Given the description of an element on the screen output the (x, y) to click on. 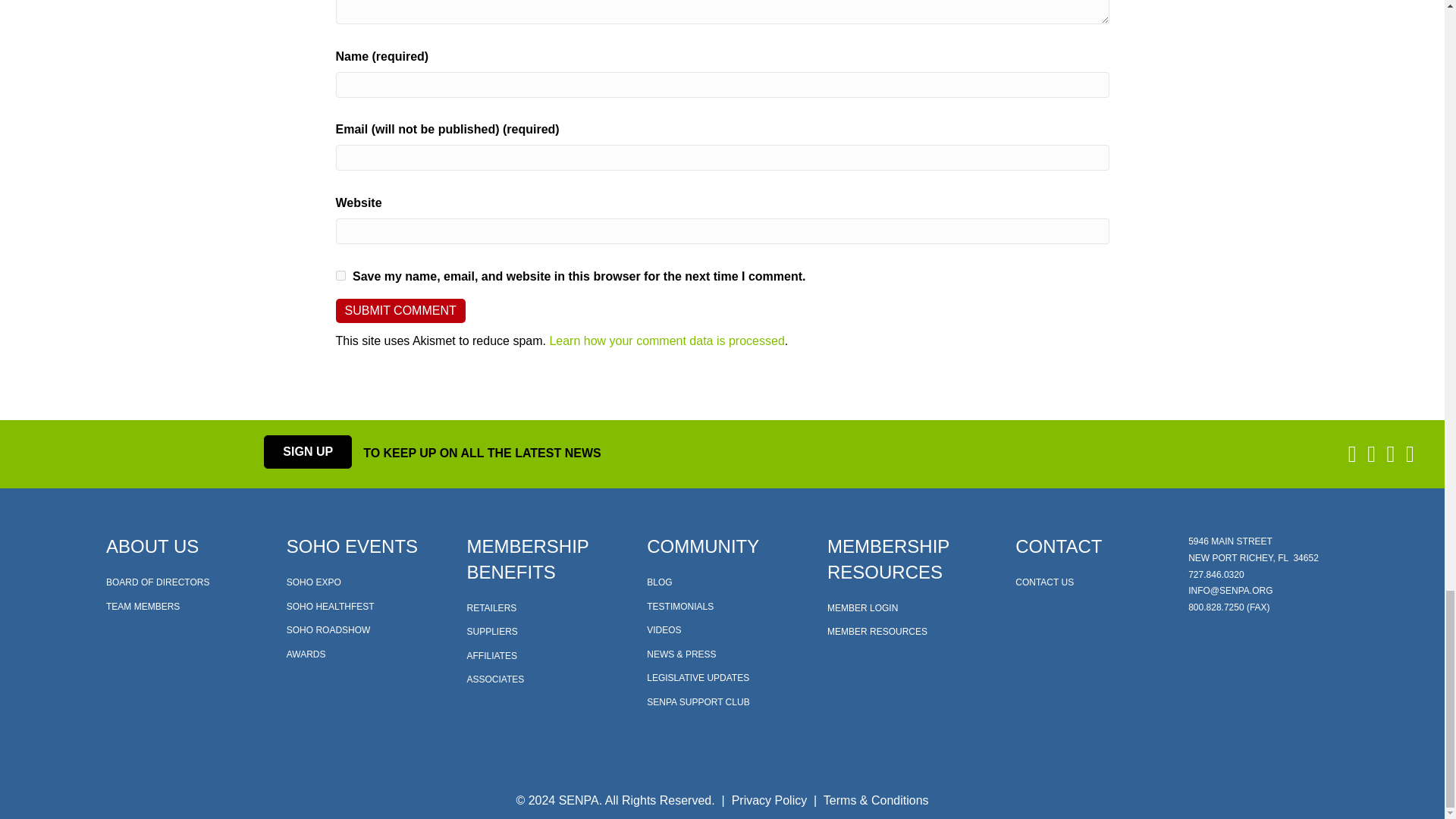
ABOUT US (152, 546)
SOHO EXPO (313, 582)
RETAILERS (491, 607)
TEAM MEMBERS (142, 606)
Click Here (307, 451)
Learn how your comment data is processed (666, 340)
yes (339, 275)
Community (702, 546)
AWARDS (306, 654)
SIGN UP (307, 451)
